Given the description of an element on the screen output the (x, y) to click on. 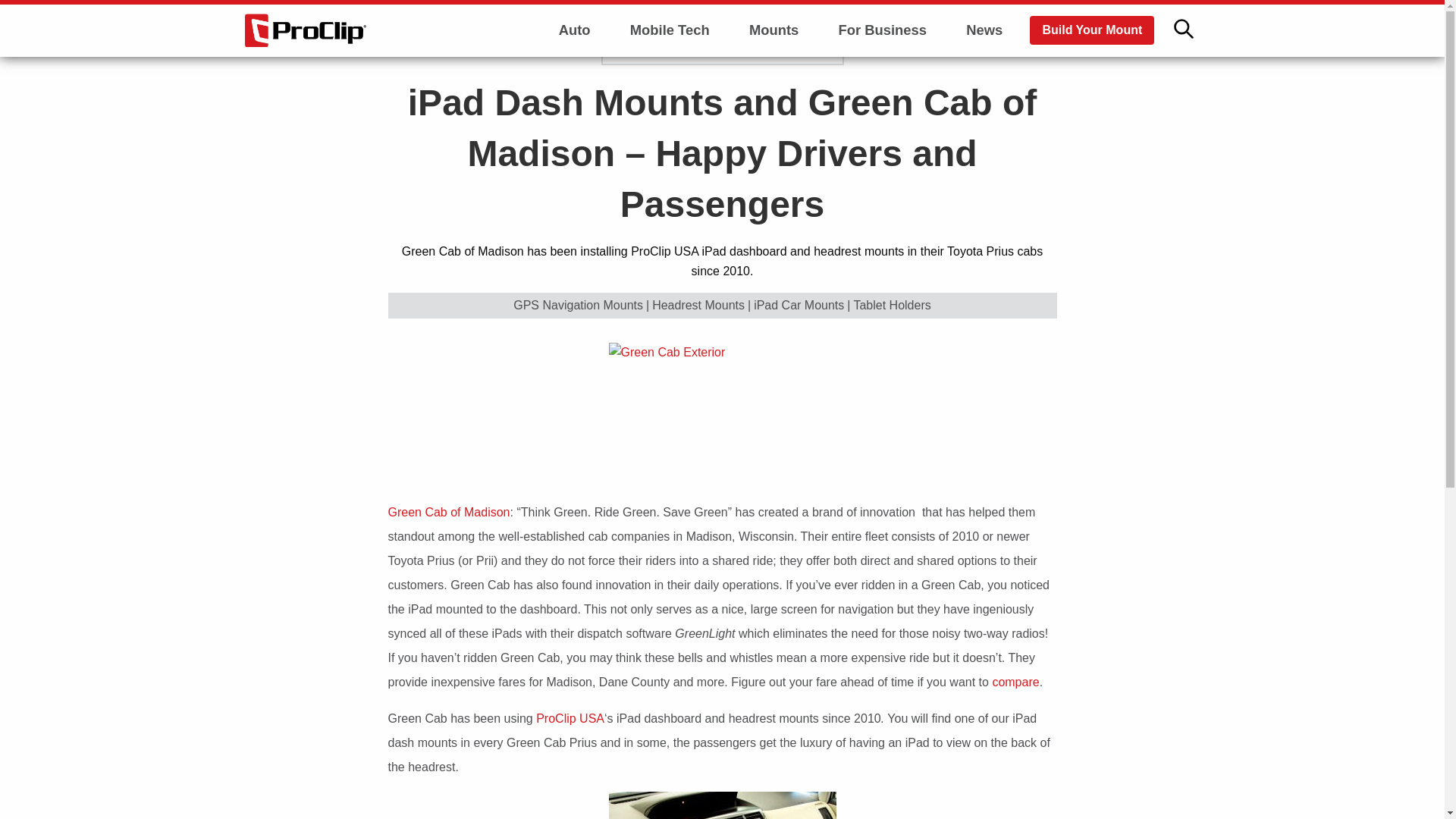
Industry News (574, 66)
Mobile Tech (669, 30)
Green Cab of Madison Fare Calculator (1013, 681)
Exact-Fit Mounts (774, 109)
Android (669, 109)
Apple (669, 66)
Mounts (773, 30)
Phone Holders (774, 66)
Auto (574, 30)
News (983, 30)
ProClip USA (569, 717)
Headrest Mounts (698, 305)
iPad Car Mounts (799, 305)
FOR BUSINESS (678, 43)
For Business (882, 30)
